Given the description of an element on the screen output the (x, y) to click on. 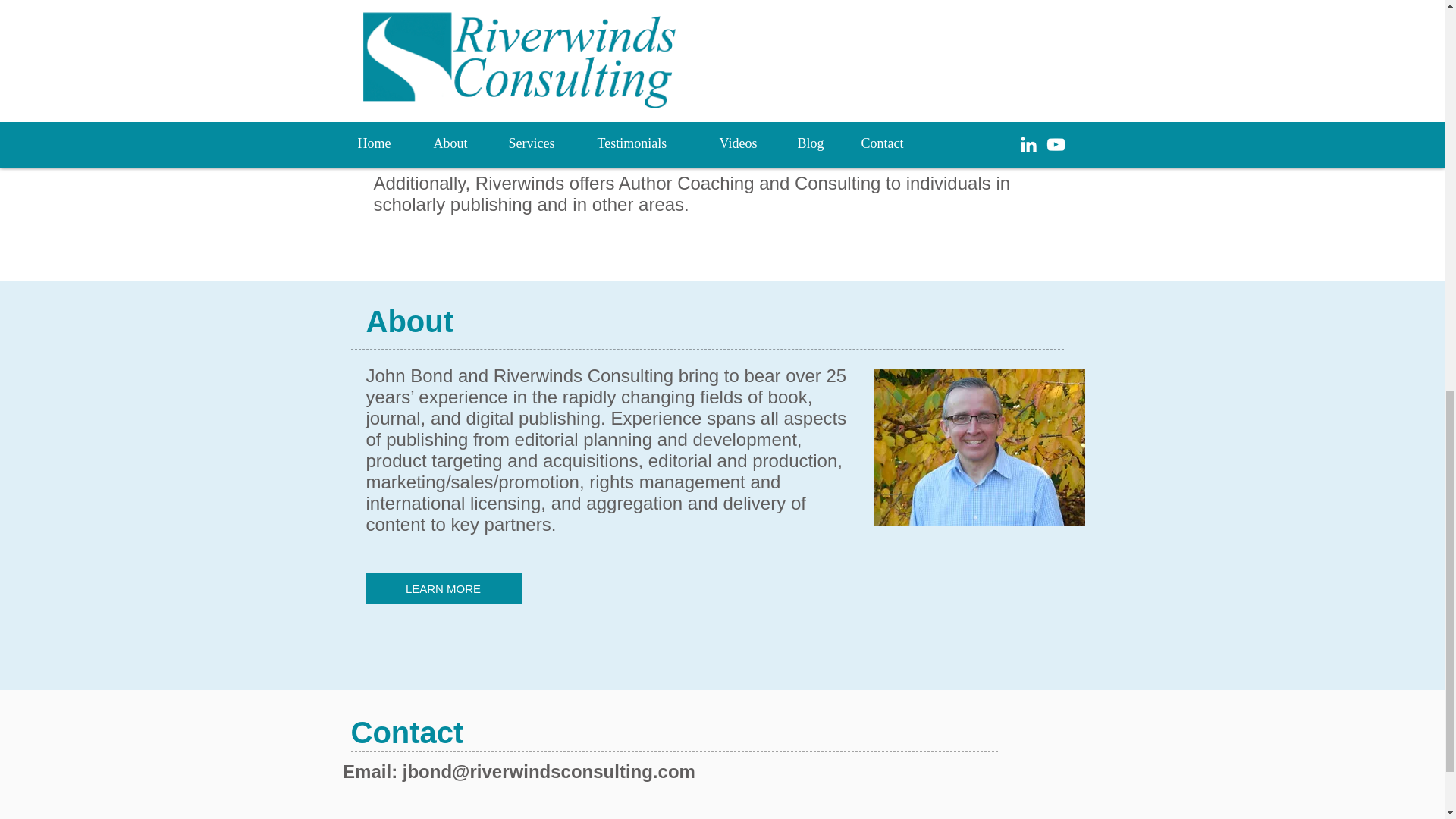
LEARN MORE (443, 588)
Riverwinds Consulting (978, 447)
